Given the description of an element on the screen output the (x, y) to click on. 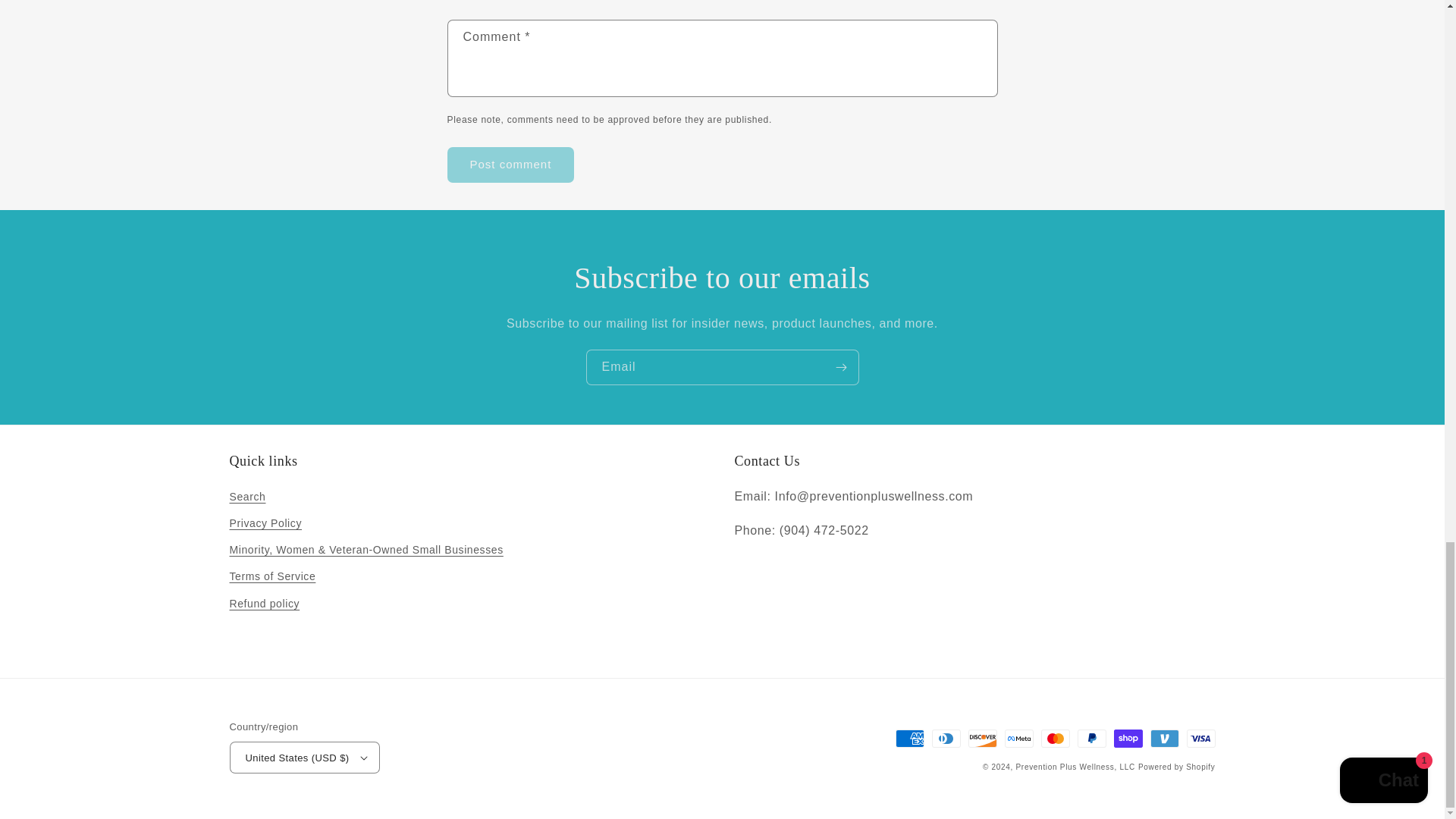
Post comment (510, 164)
